Given the description of an element on the screen output the (x, y) to click on. 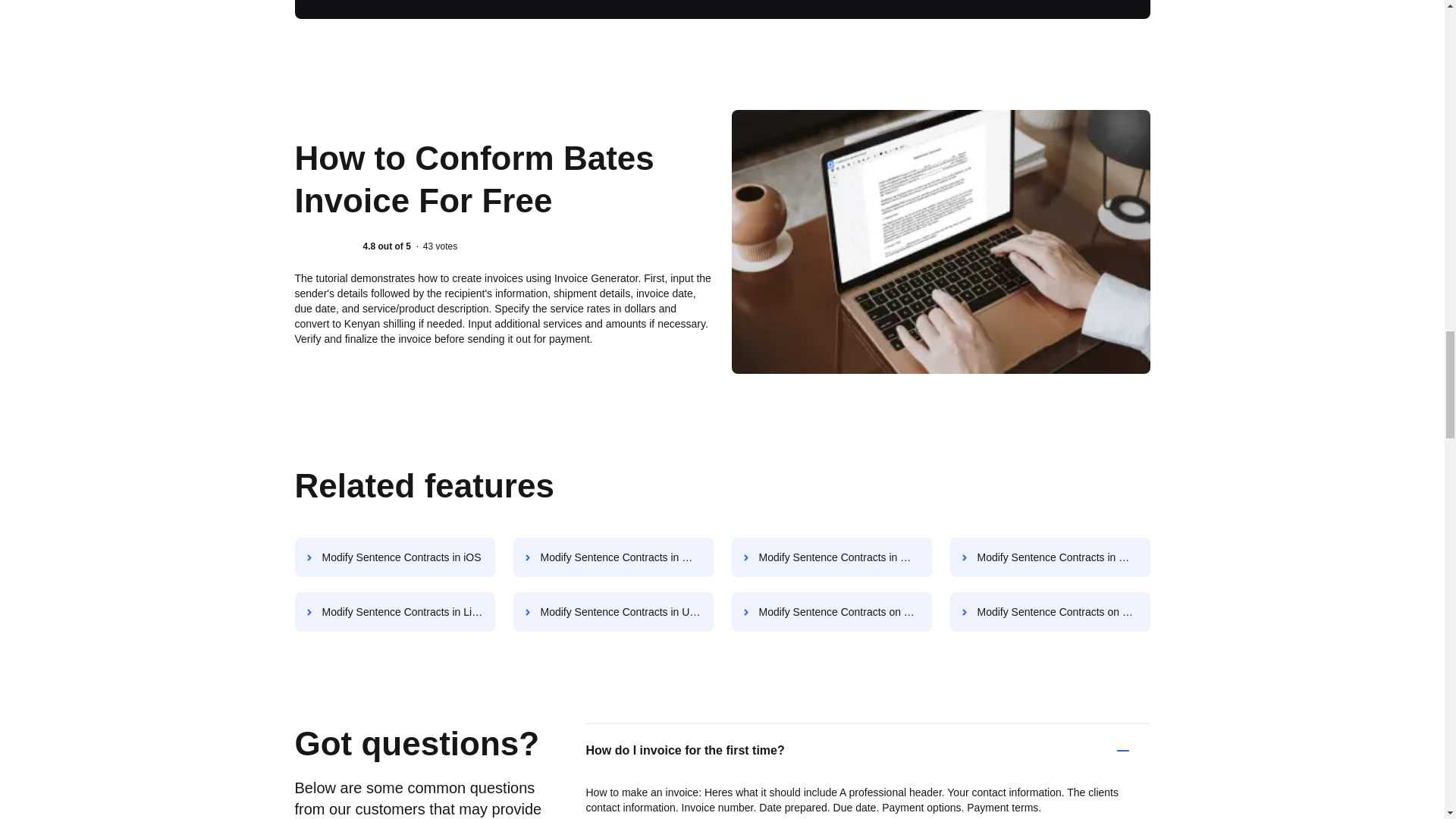
Modify Sentence Contracts on Desktop (1049, 611)
Modify Sentence Contracts in Ubuntu (612, 611)
Modify Sentence Contracts on Tablet (830, 611)
Modify Sentence Contracts in Windows (830, 557)
Modify Sentence Contracts in Linux (394, 611)
Modify Sentence Contracts in macOS (1049, 557)
Modify Sentence Contracts in iOS (394, 557)
